Given the description of an element on the screen output the (x, y) to click on. 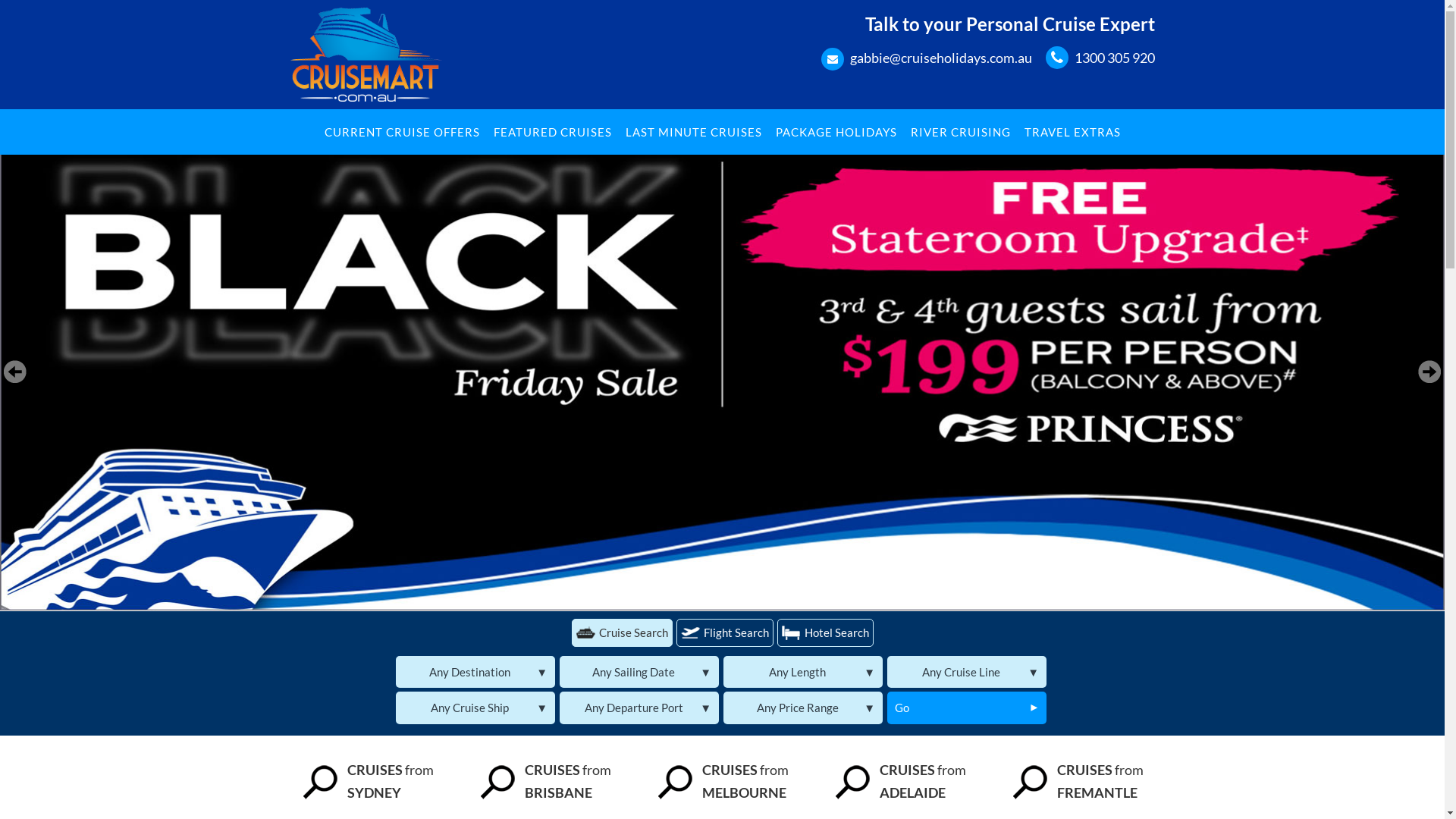
previous Element type: text (14, 371)
Go Element type: text (966, 707)
RIVER CRUISING Element type: text (959, 131)
PACKAGE HOLIDAYS Element type: text (835, 131)
Home Element type: hover (365, 51)
FEATURED CRUISES Element type: text (551, 131)
TRAVEL EXTRAS Element type: text (1071, 131)
LAST MINUTE CRUISES Element type: text (692, 131)
1300 305 920 Element type: text (1113, 57)
next Element type: text (1429, 371)
CURRENT CRUISE OFFERS Element type: text (402, 131)
gabbie@cruiseholidays.com.au Element type: text (940, 57)
